Given the description of an element on the screen output the (x, y) to click on. 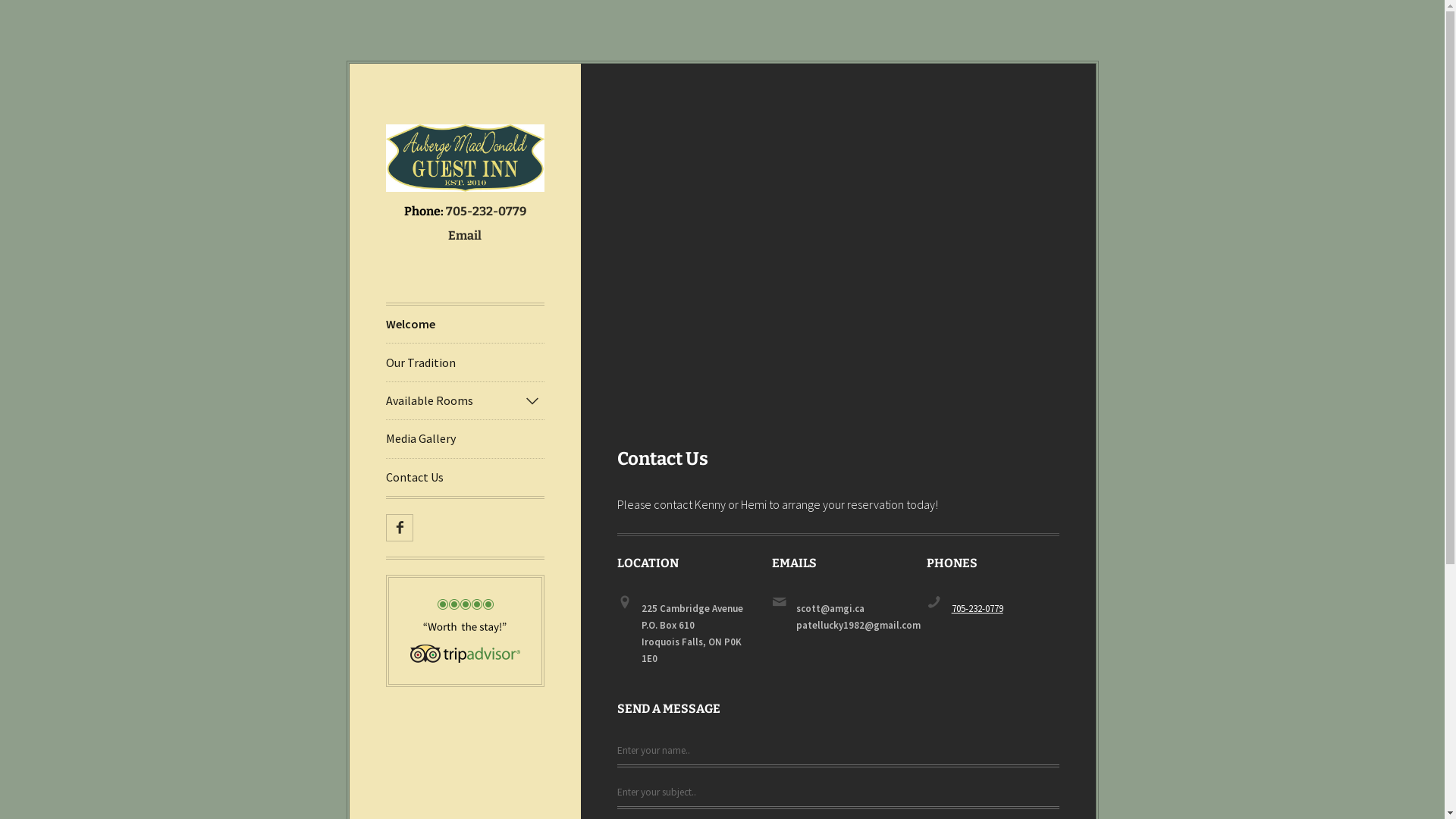
Facebook profile Element type: text (398, 527)
Welcome Element type: text (464, 323)
Media Gallery Element type: text (464, 438)
Our Tradition Element type: text (464, 361)
705-232-0779 Element type: text (977, 608)
TOGGLE SUBMENU Element type: text (532, 400)
Contact Us Element type: text (464, 476)
Email Element type: text (464, 235)
705-232-0779 Element type: text (485, 211)
Available Rooms Element type: text (464, 400)
